Given the description of an element on the screen output the (x, y) to click on. 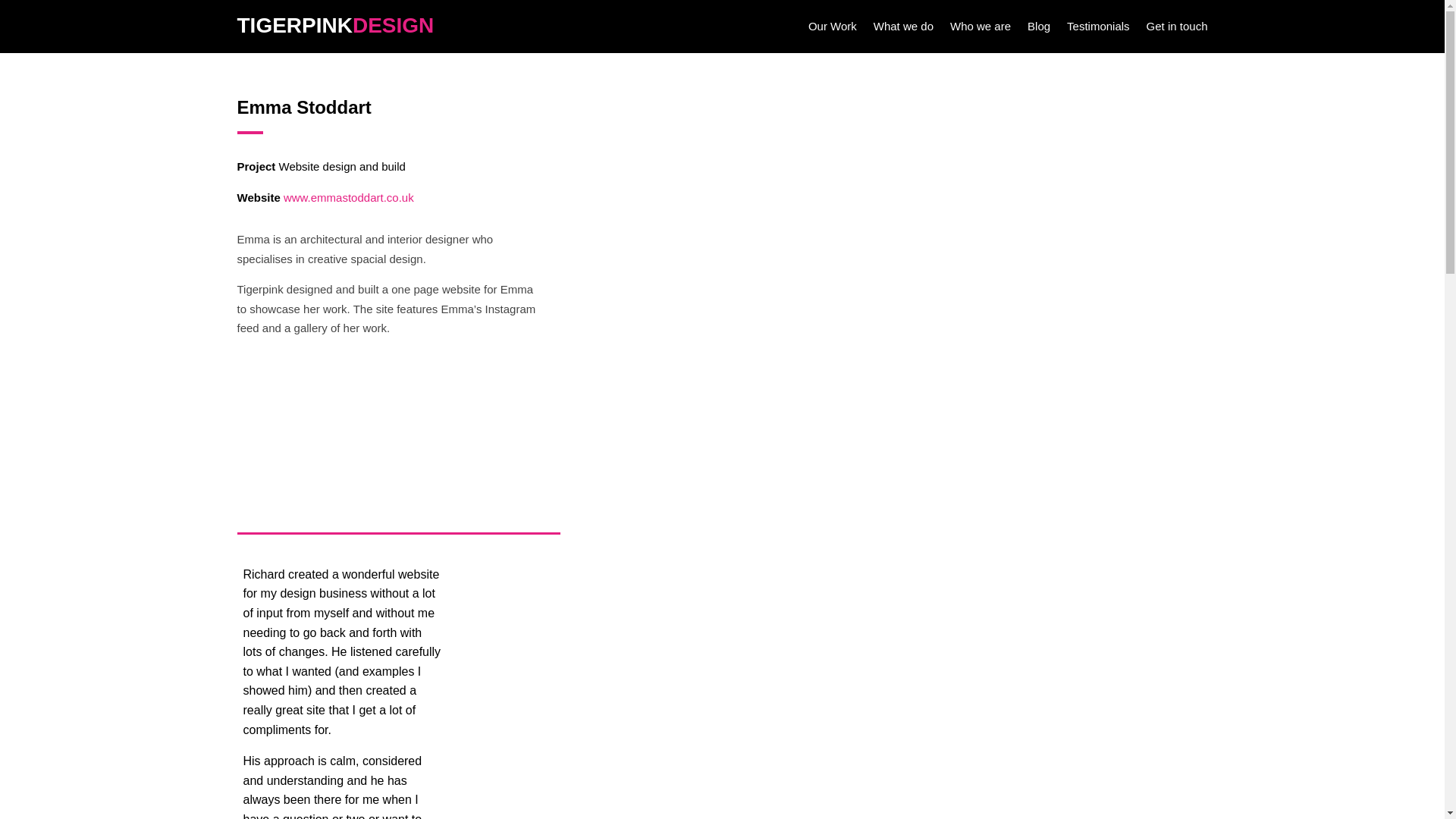
TIGERPINKDESIGN (334, 24)
What we do (903, 29)
Who we are (980, 29)
www.emmastoddart.co.uk (348, 196)
Blog (1038, 29)
Our Work (832, 29)
Get in touch (1177, 29)
Testimonials (1098, 29)
